Given the description of an element on the screen output the (x, y) to click on. 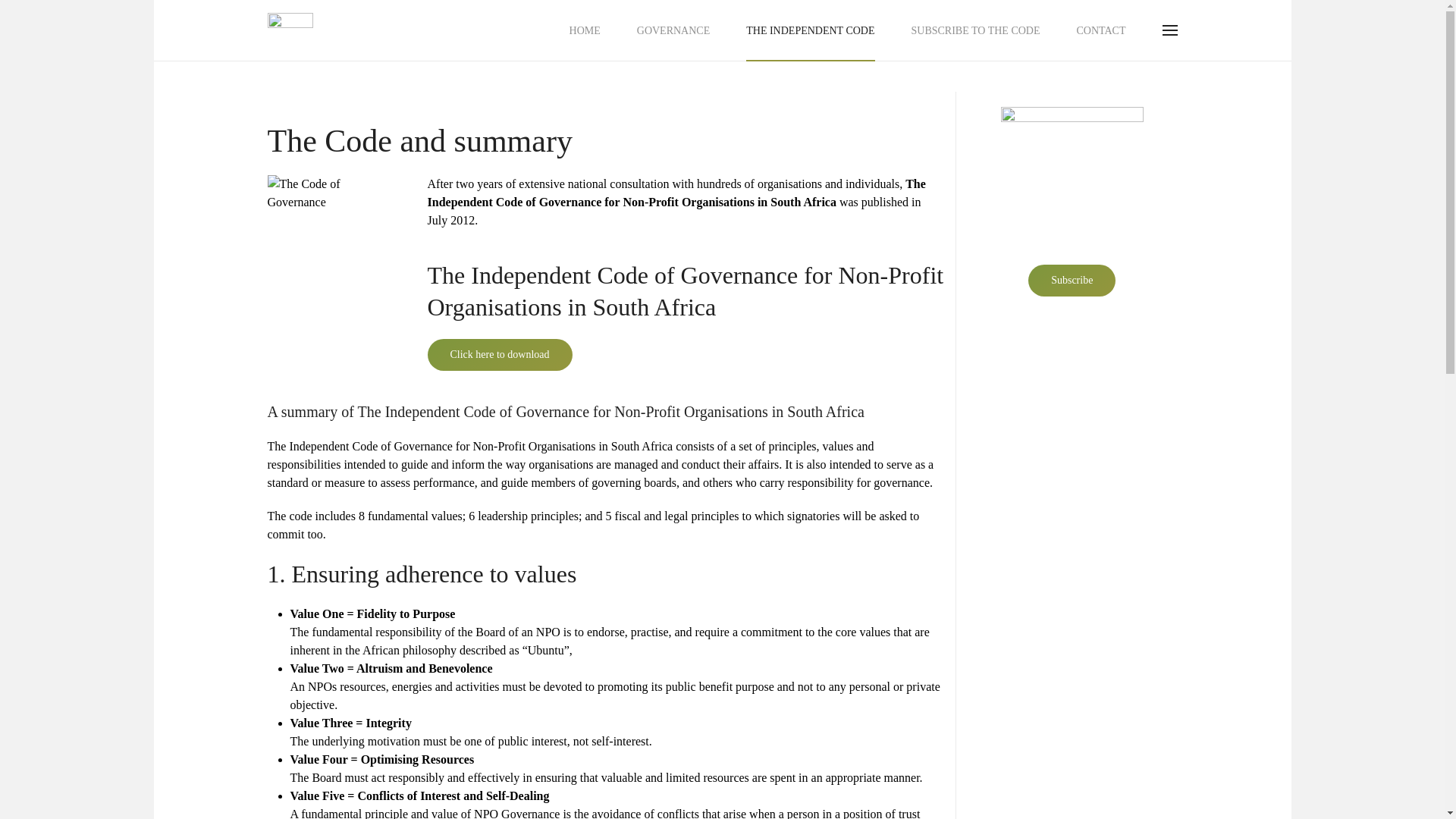
THE INDEPENDENT CODE (810, 30)
SUBSCRIBE TO THE CODE (976, 30)
GOVERNANCE (673, 30)
